Given the description of an element on the screen output the (x, y) to click on. 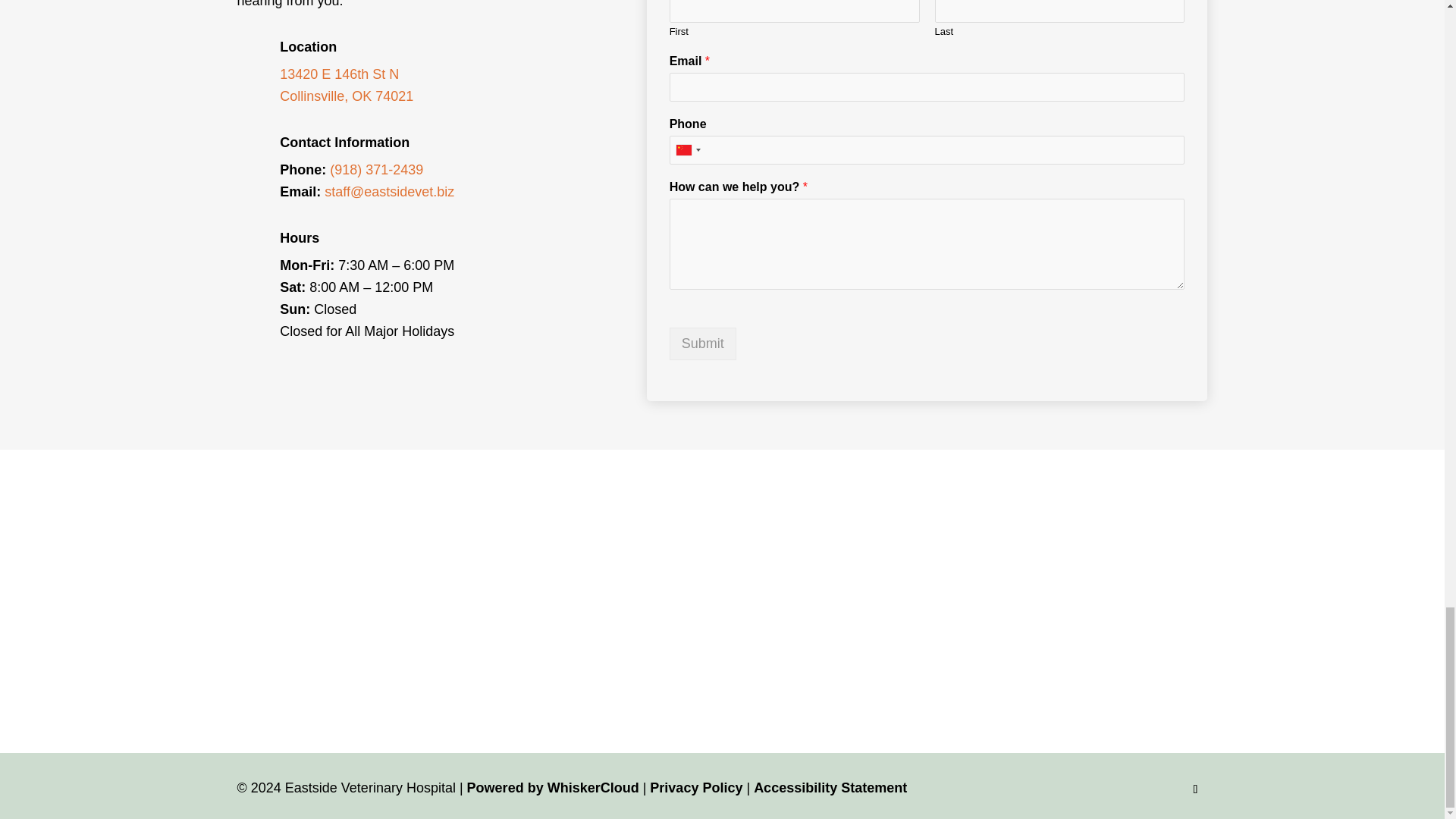
Follow on Facebook (1194, 789)
